Given the description of an element on the screen output the (x, y) to click on. 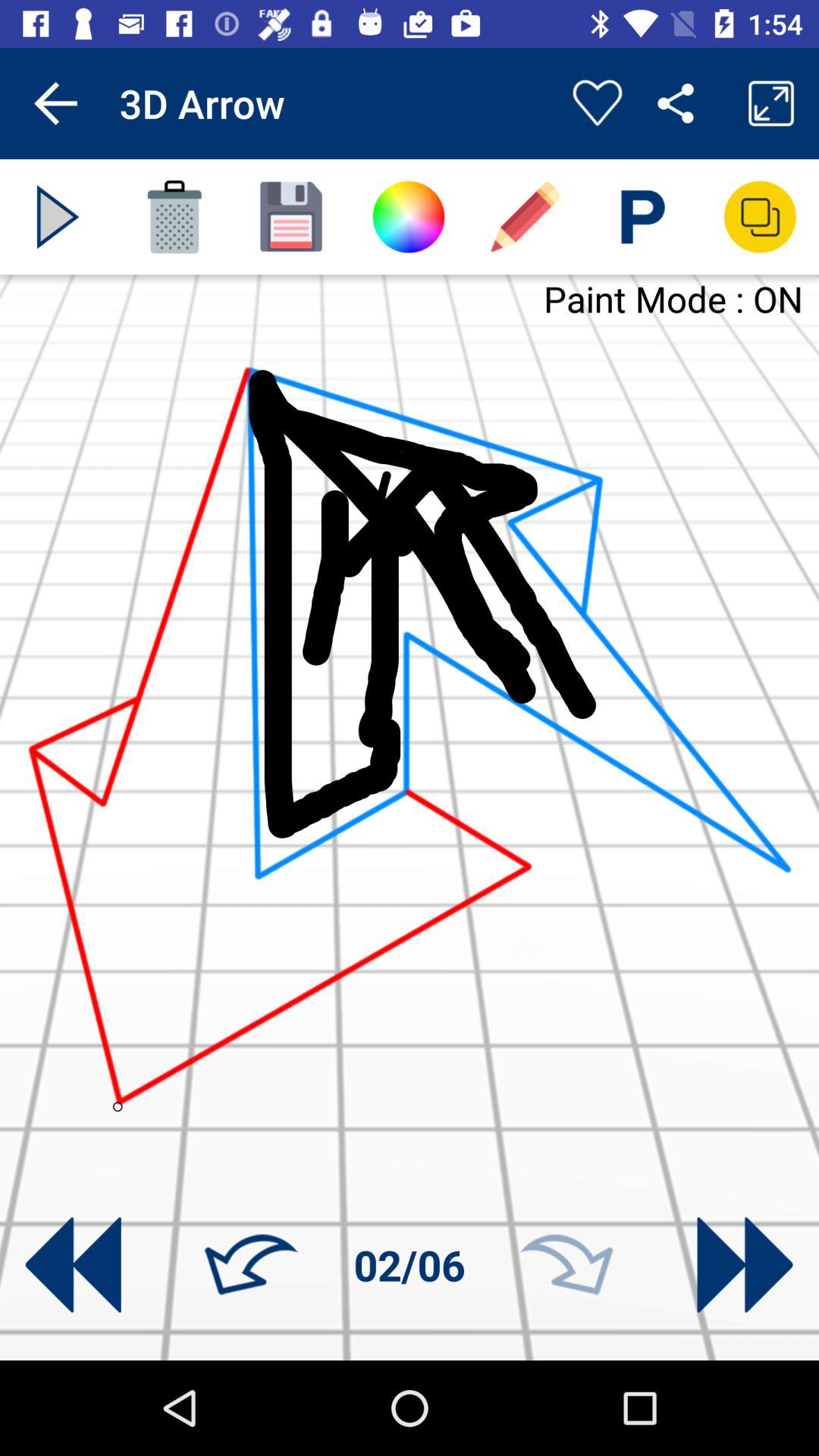
swith to drawing pencil (525, 216)
